Given the description of an element on the screen output the (x, y) to click on. 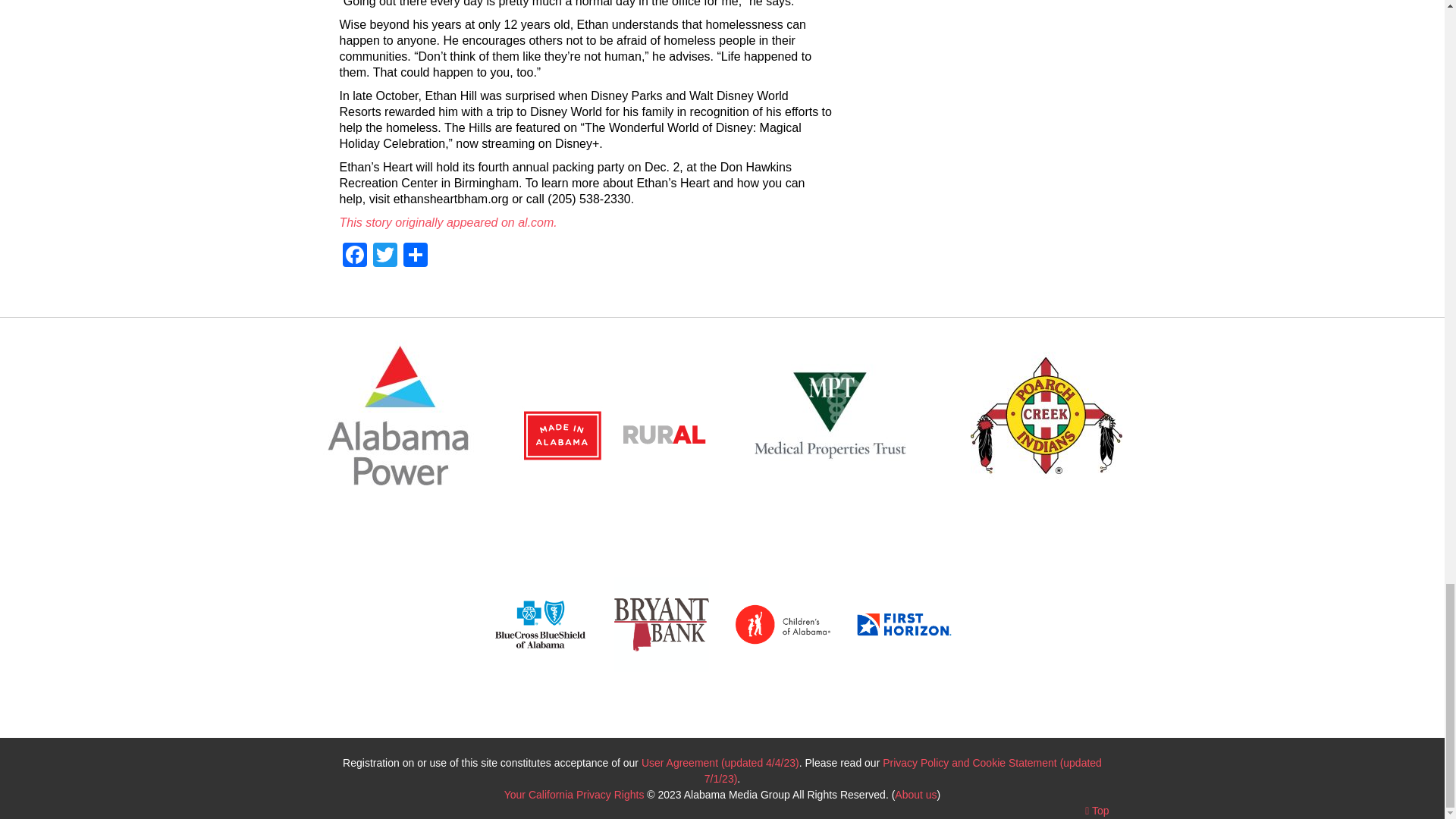
Share (415, 256)
Facebook (354, 256)
Twitter (384, 256)
Twitter (384, 256)
Facebook (354, 256)
This story originally appeared on al.com.  (449, 222)
